Given the description of an element on the screen output the (x, y) to click on. 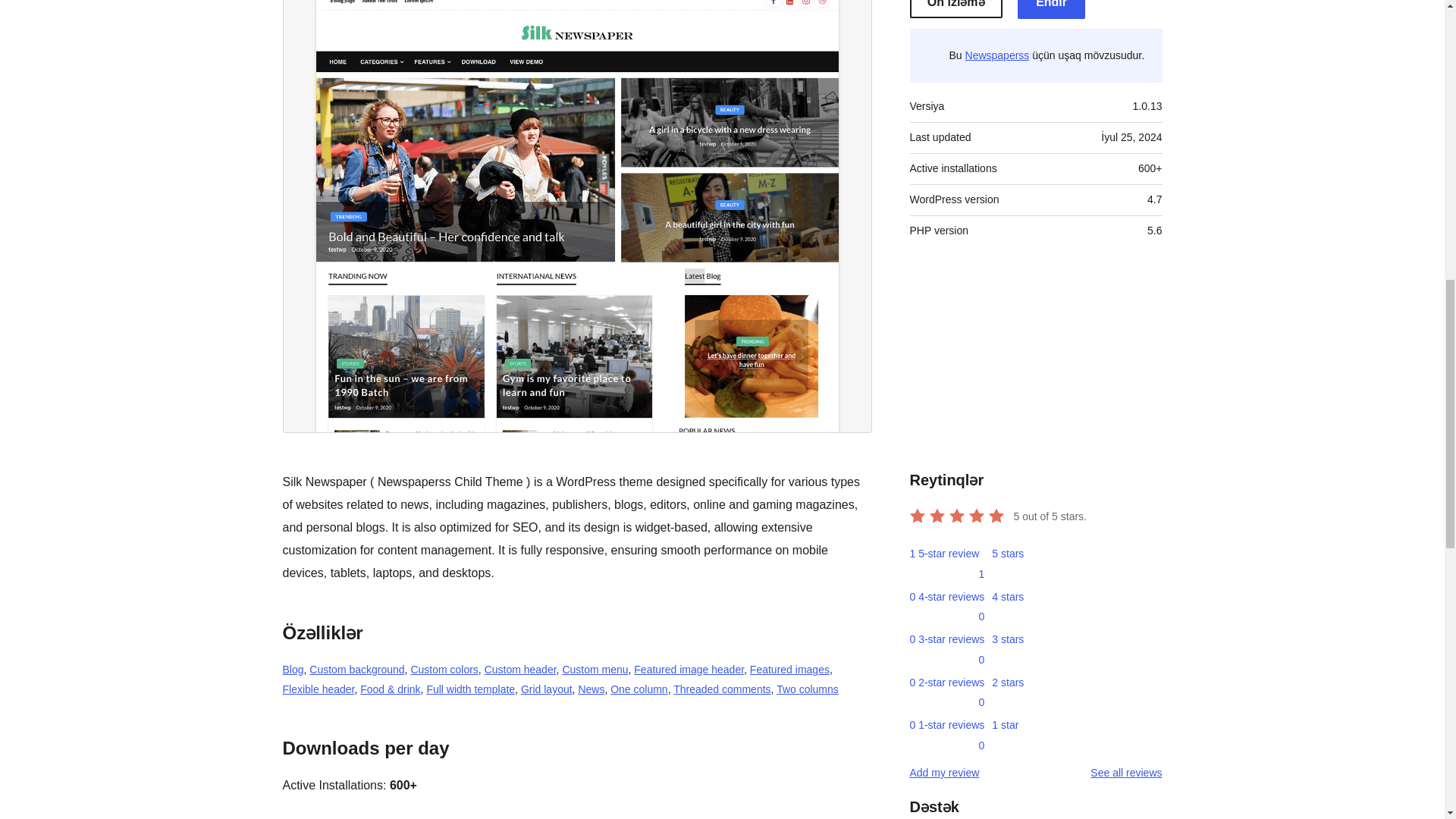
Custom header (520, 669)
Blog (292, 669)
Newspaperss (997, 55)
Custom background (356, 669)
Endir (1051, 9)
Custom colors (443, 669)
